Given the description of an element on the screen output the (x, y) to click on. 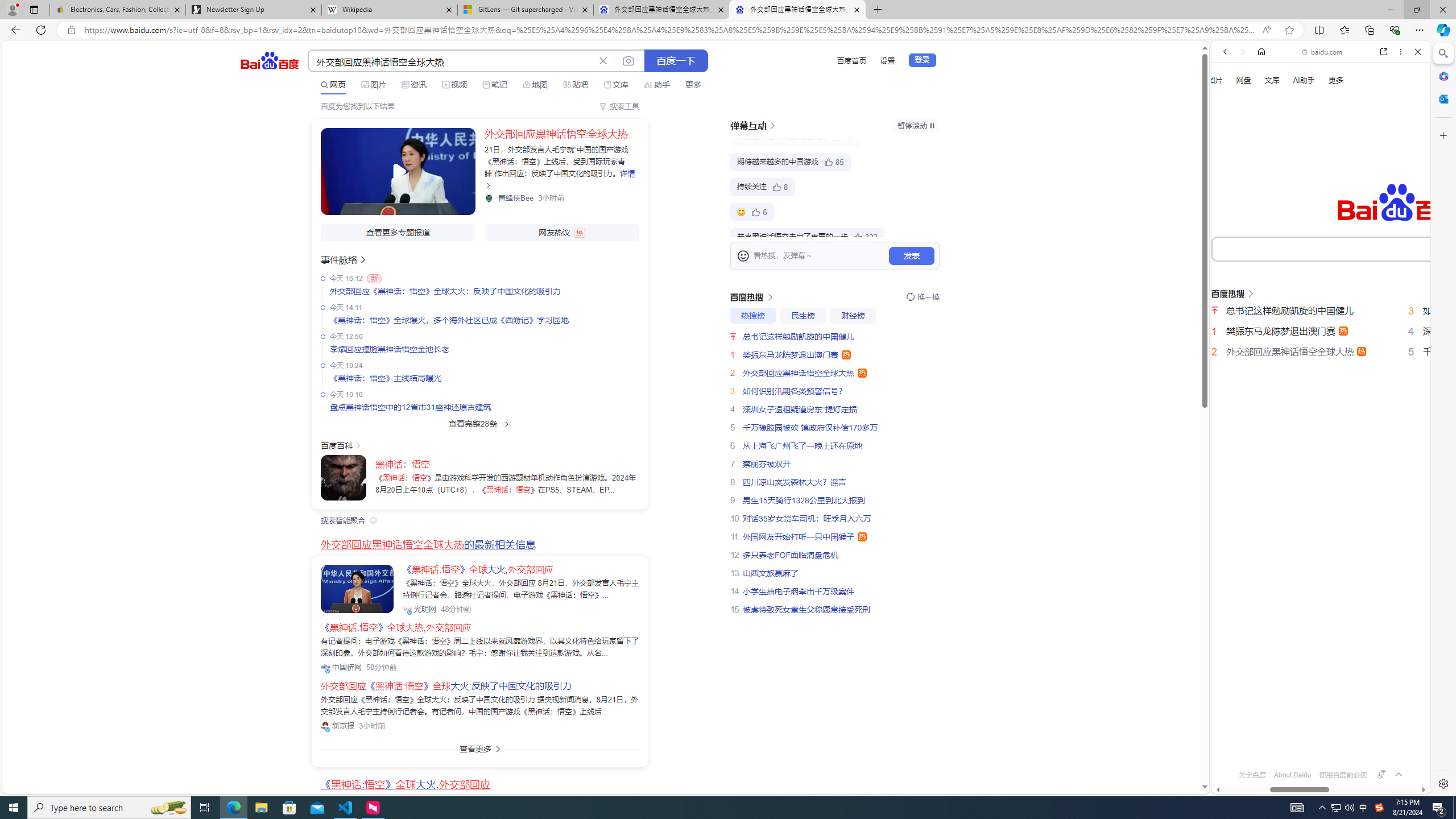
App bar (728, 29)
Newsletter Sign Up (253, 9)
OFTV (1315, 743)
Settings and more (Alt+F) (1419, 29)
Browser essentials (1394, 29)
Collections (1369, 29)
New Tab (878, 9)
